Given the description of an element on the screen output the (x, y) to click on. 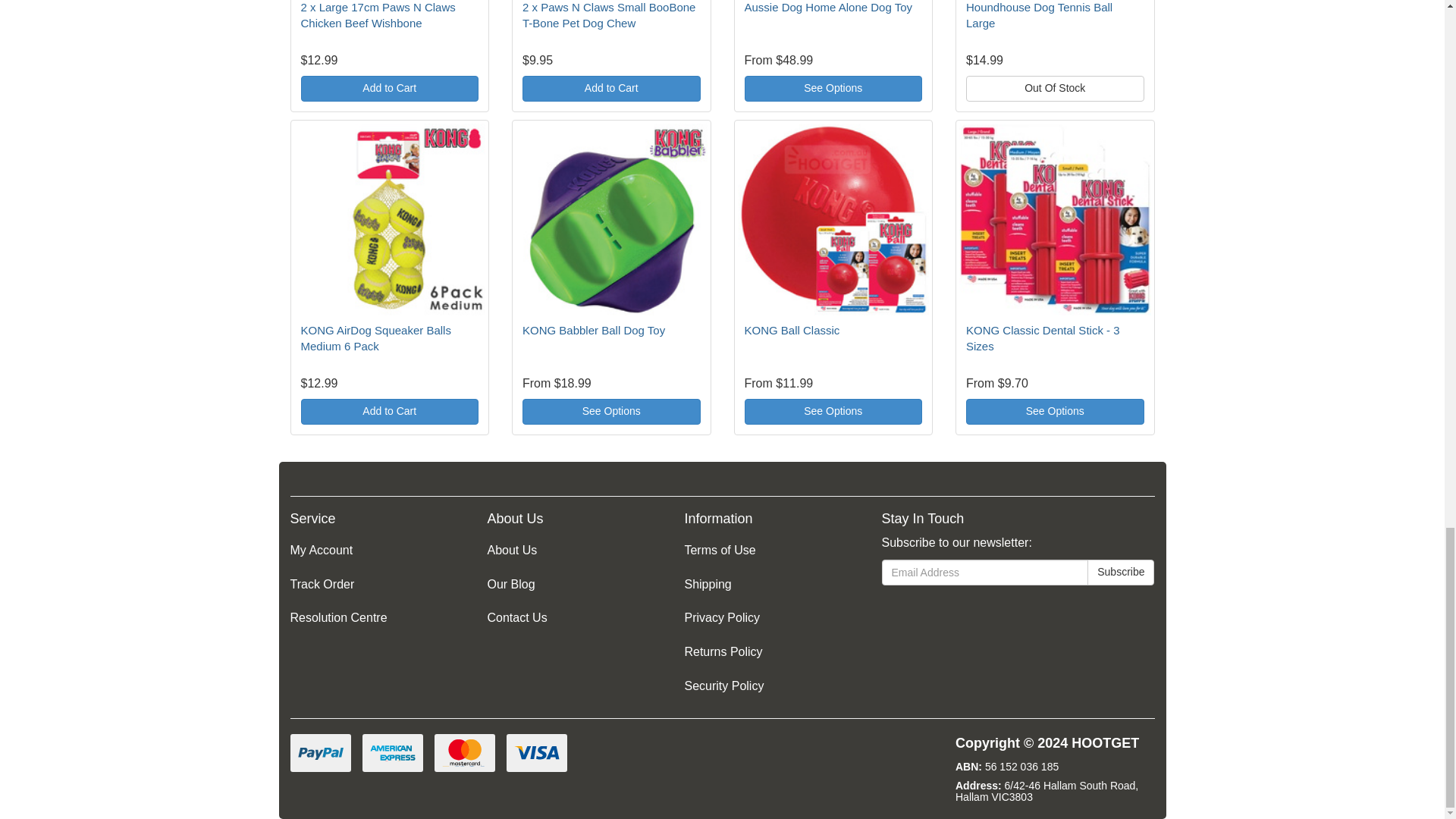
Subscribe (1120, 572)
Buying Options (833, 88)
Add to Cart (611, 88)
Houndhouse Dog Tennis Ball Large (1039, 14)
KONG Babbler Ball Dog Toy (593, 329)
Notify Me When Back In Stock (1055, 88)
Add to Cart (389, 88)
Add to Cart (389, 411)
Aussie Dog Home Alone Dog Toy (828, 6)
KONG AirDog Squeaker Balls Medium 6 Pack (374, 337)
2 x Paws N Claws Small BooBone T-Bone Pet Dog Chew Toy (608, 14)
